Given the description of an element on the screen output the (x, y) to click on. 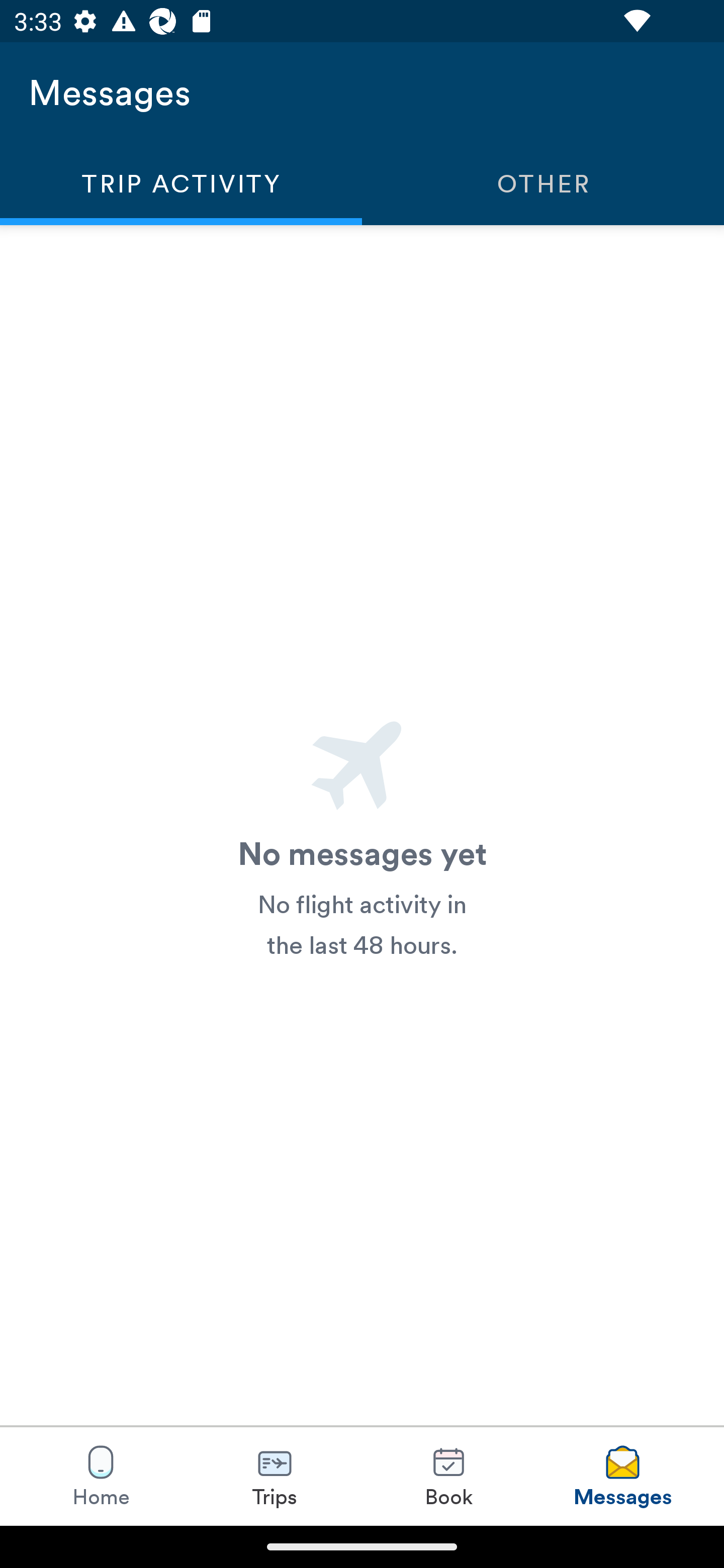
OTHER (543, 183)
Home (100, 1475)
Trips (275, 1475)
Book (448, 1475)
Messages (622, 1475)
